Given the description of an element on the screen output the (x, y) to click on. 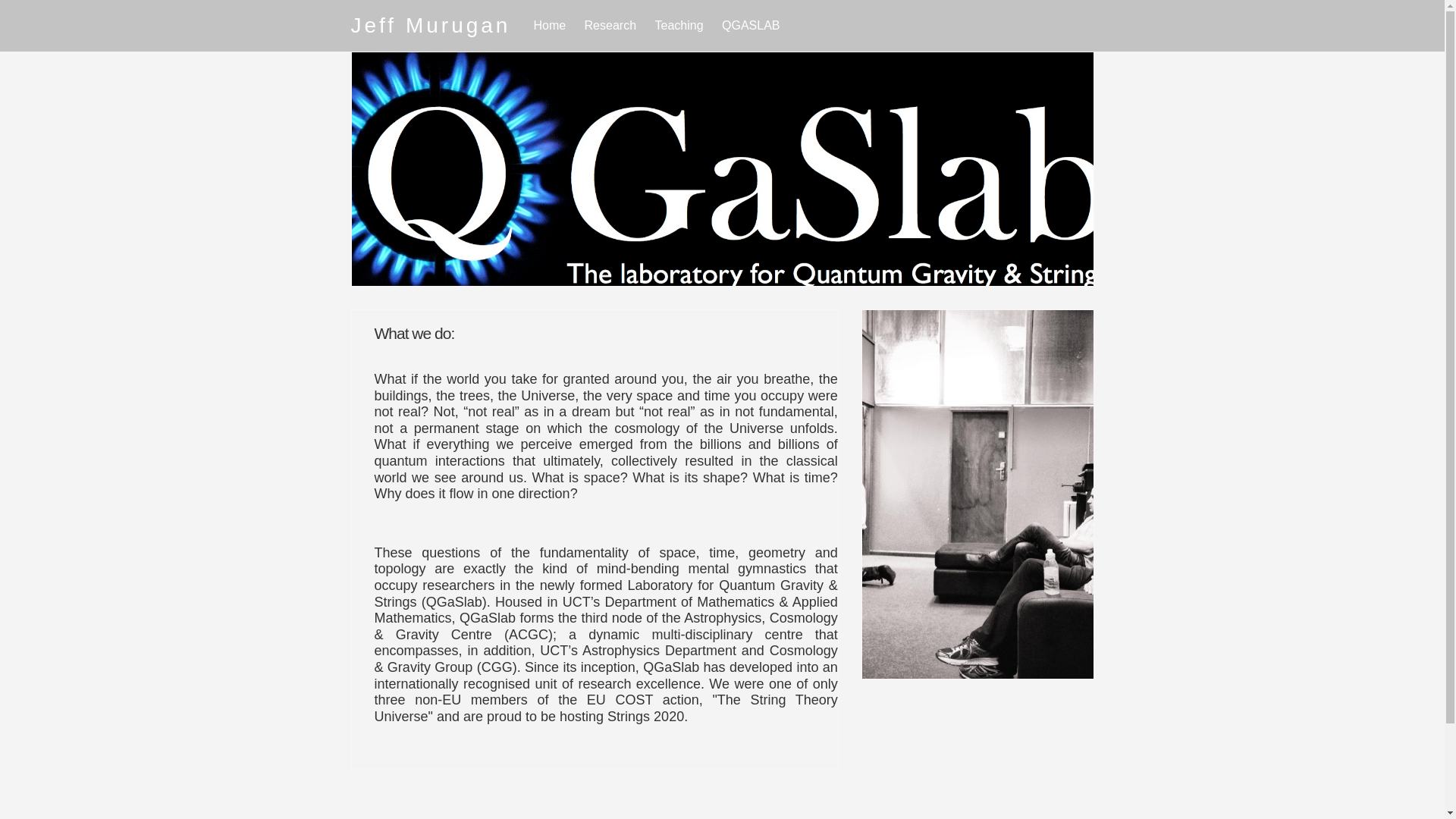
Jeff Murugan (430, 25)
Home (549, 25)
QGASLAB (750, 25)
Teaching (679, 25)
Research (609, 25)
